Given the description of an element on the screen output the (x, y) to click on. 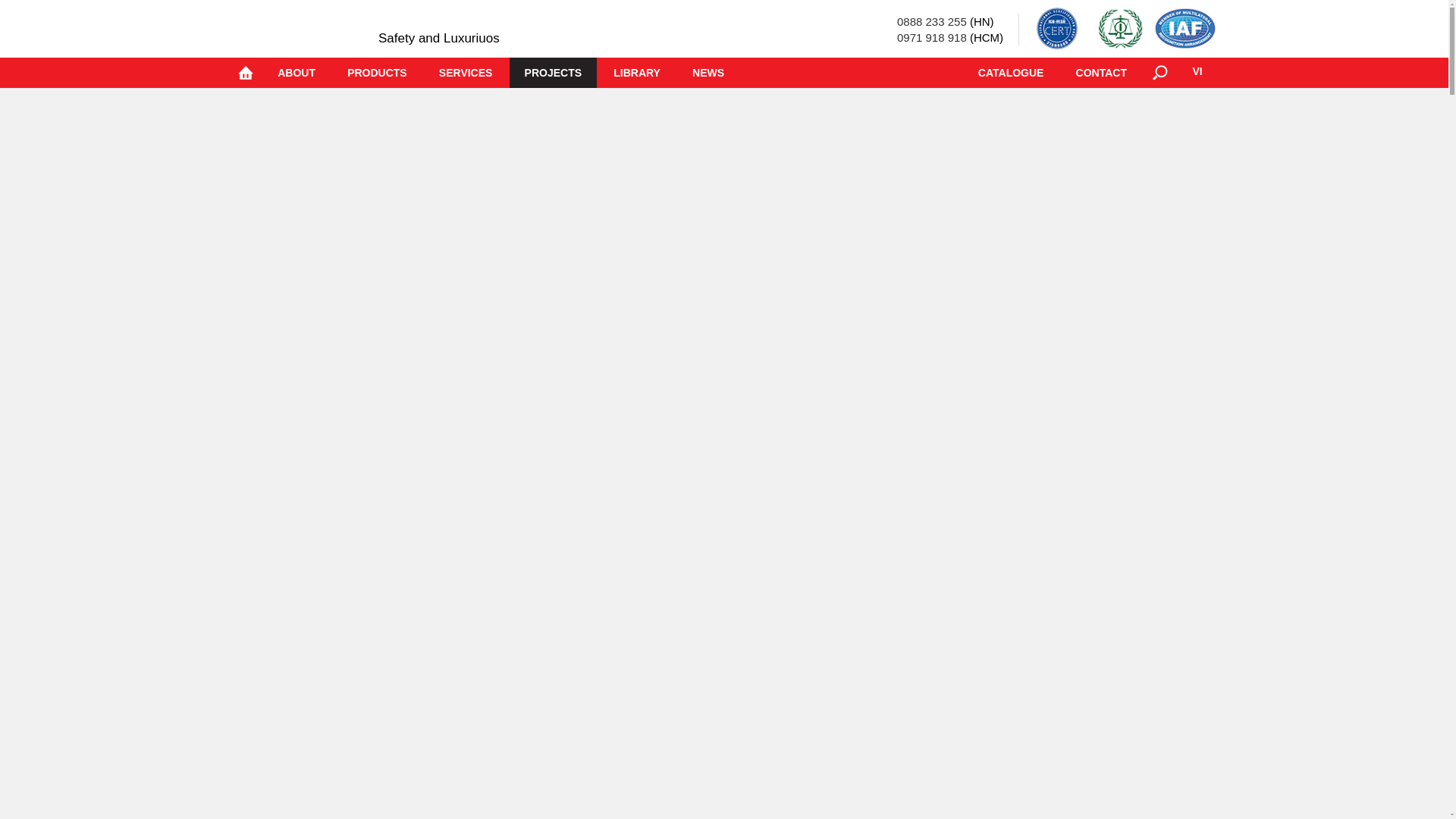
SERVICES (465, 72)
LIBRARY (636, 72)
0888 233 255 (931, 21)
ABOUT (296, 72)
VI (1197, 72)
PROJECTS (552, 72)
CONTACT (1101, 72)
0971 918 918 (931, 37)
NEWS (708, 72)
PRODUCTS (376, 72)
